Given the description of an element on the screen output the (x, y) to click on. 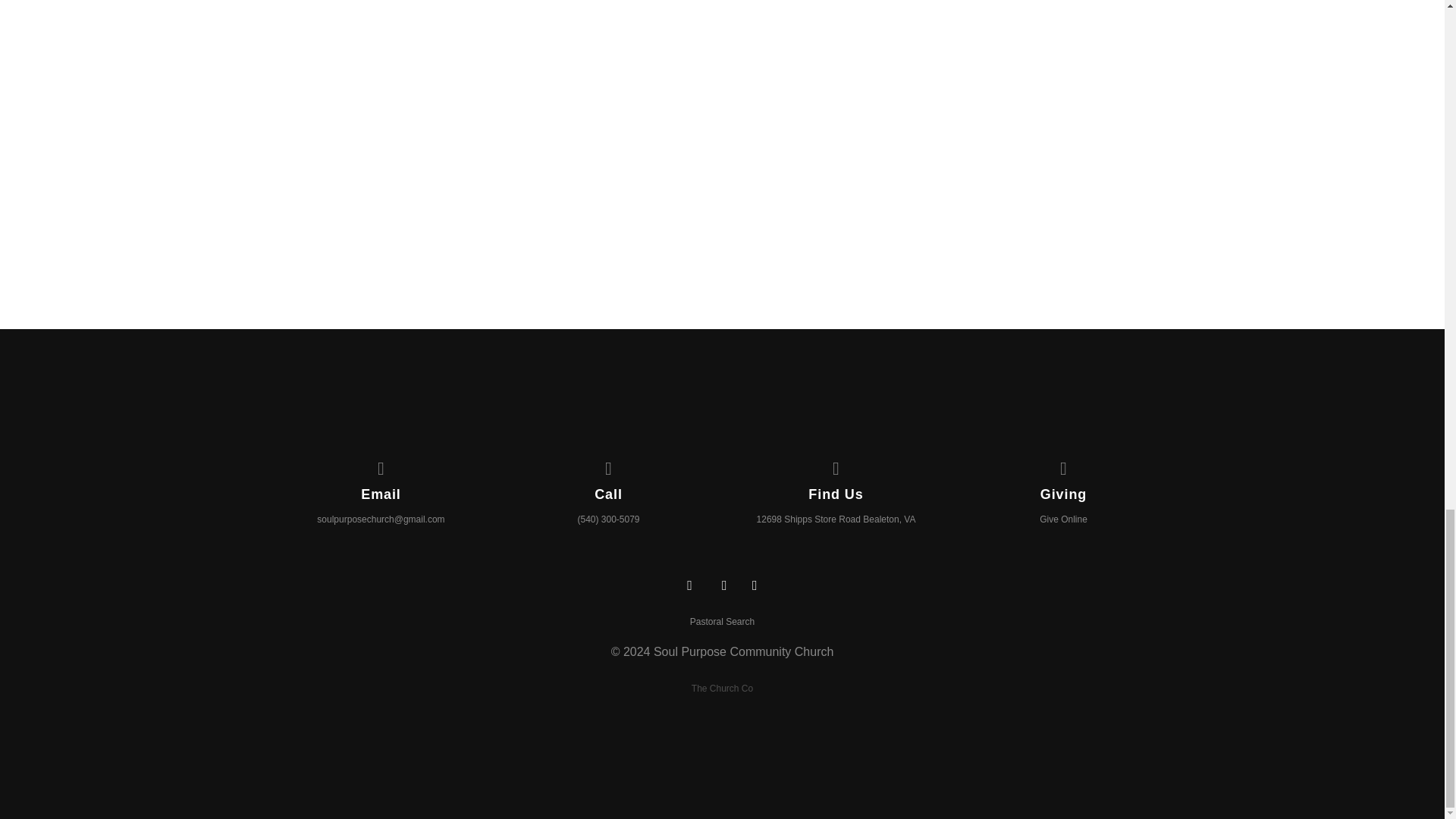
Give Online (1063, 519)
Pastoral Search (721, 621)
Give online (1064, 466)
12698 Shipps Store Road Bealeton, VA (836, 519)
The Church Co (721, 688)
View map of our location (836, 466)
Contact us via email (381, 466)
